Given the description of an element on the screen output the (x, y) to click on. 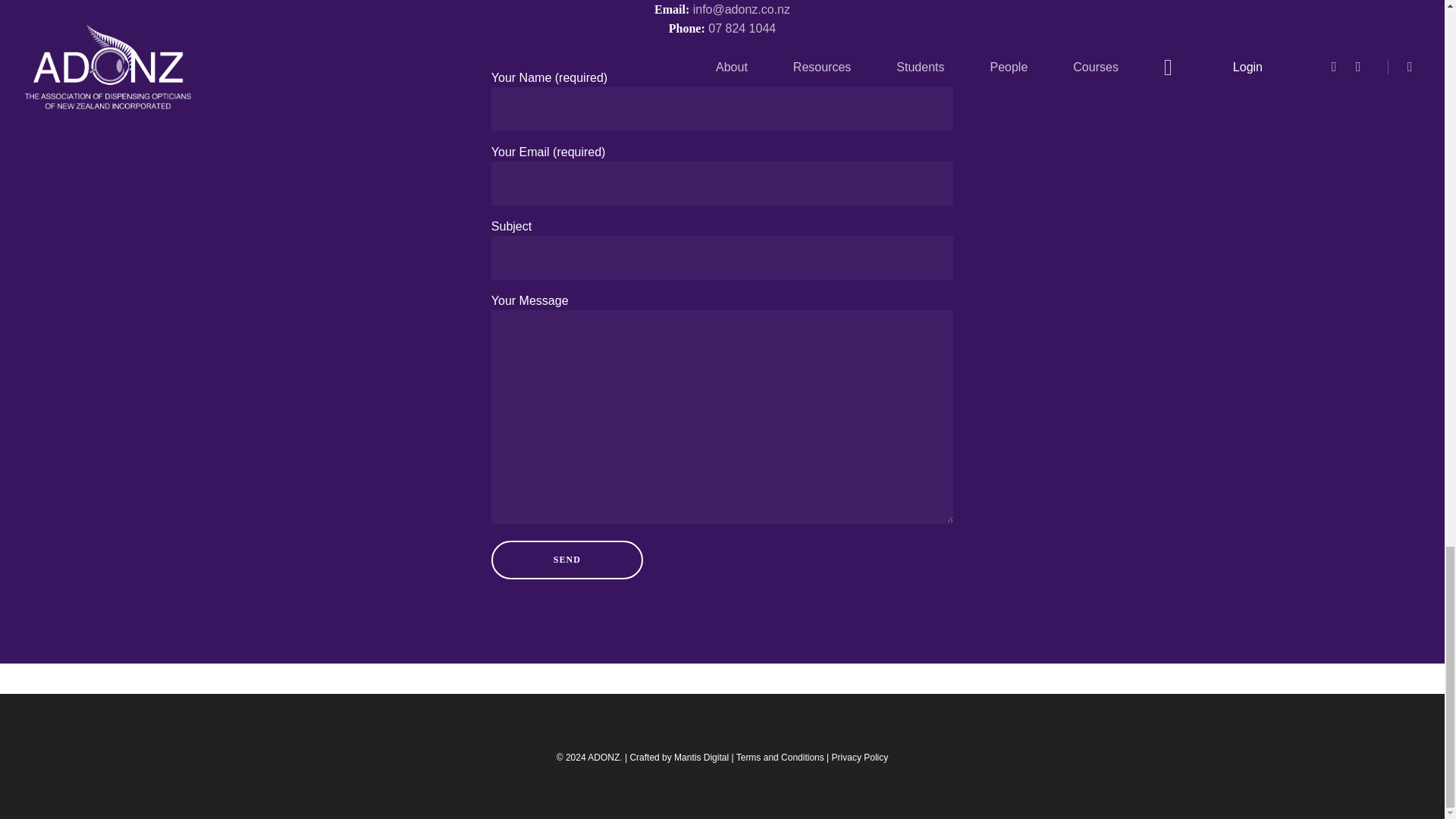
Terms and Conditions (780, 757)
Send (567, 559)
Privacy Policy (859, 757)
Send (567, 559)
07 824 1044 (741, 28)
